Given the description of an element on the screen output the (x, y) to click on. 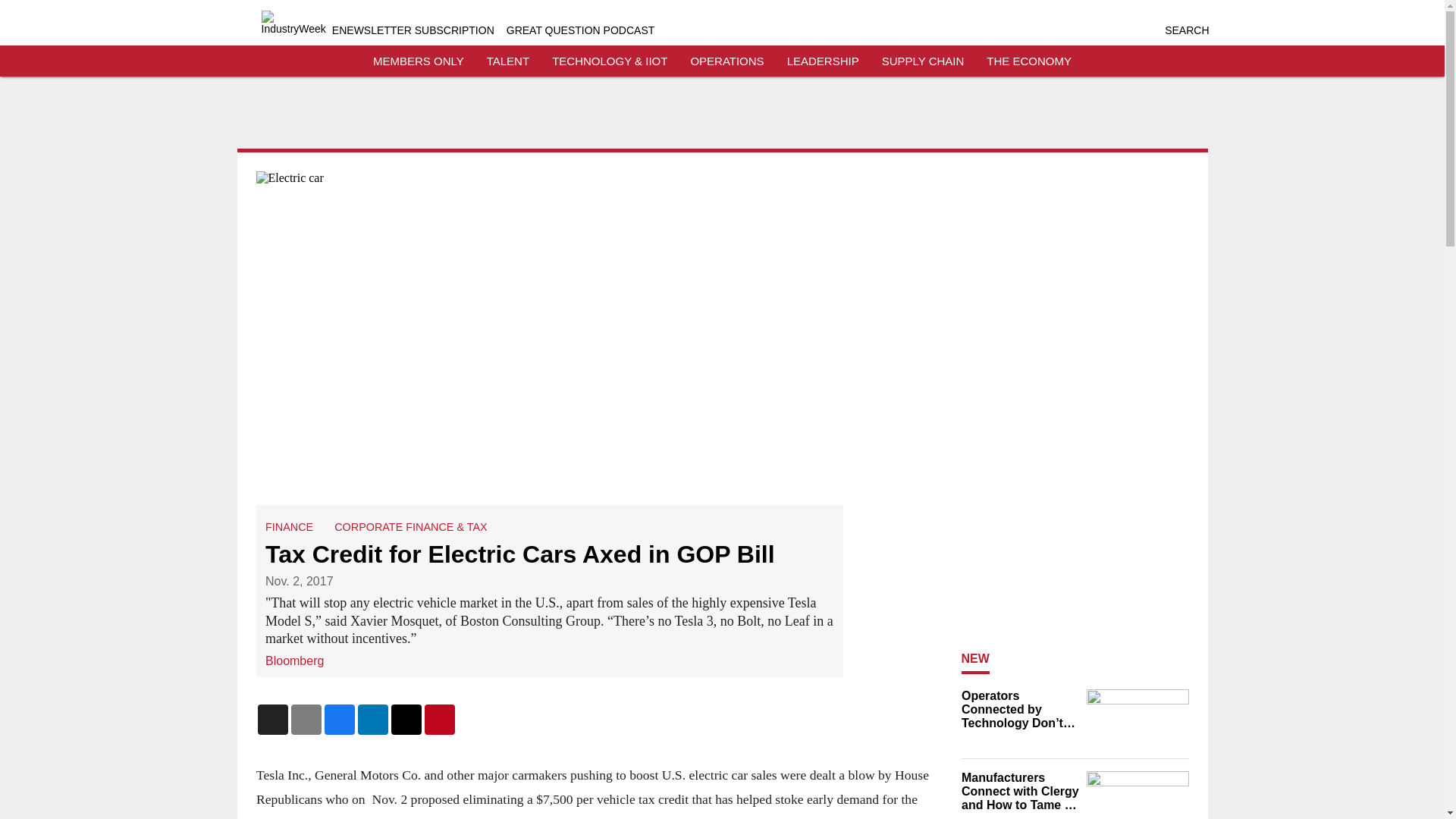
TALENT (507, 60)
ENEWSLETTER SUBSCRIPTION (413, 30)
THE ECONOMY (1029, 60)
OPERATIONS (726, 60)
FINANCE (288, 526)
MEMBERS ONLY (418, 60)
SEARCH (1186, 30)
SUPPLY CHAIN (922, 60)
